Given the description of an element on the screen output the (x, y) to click on. 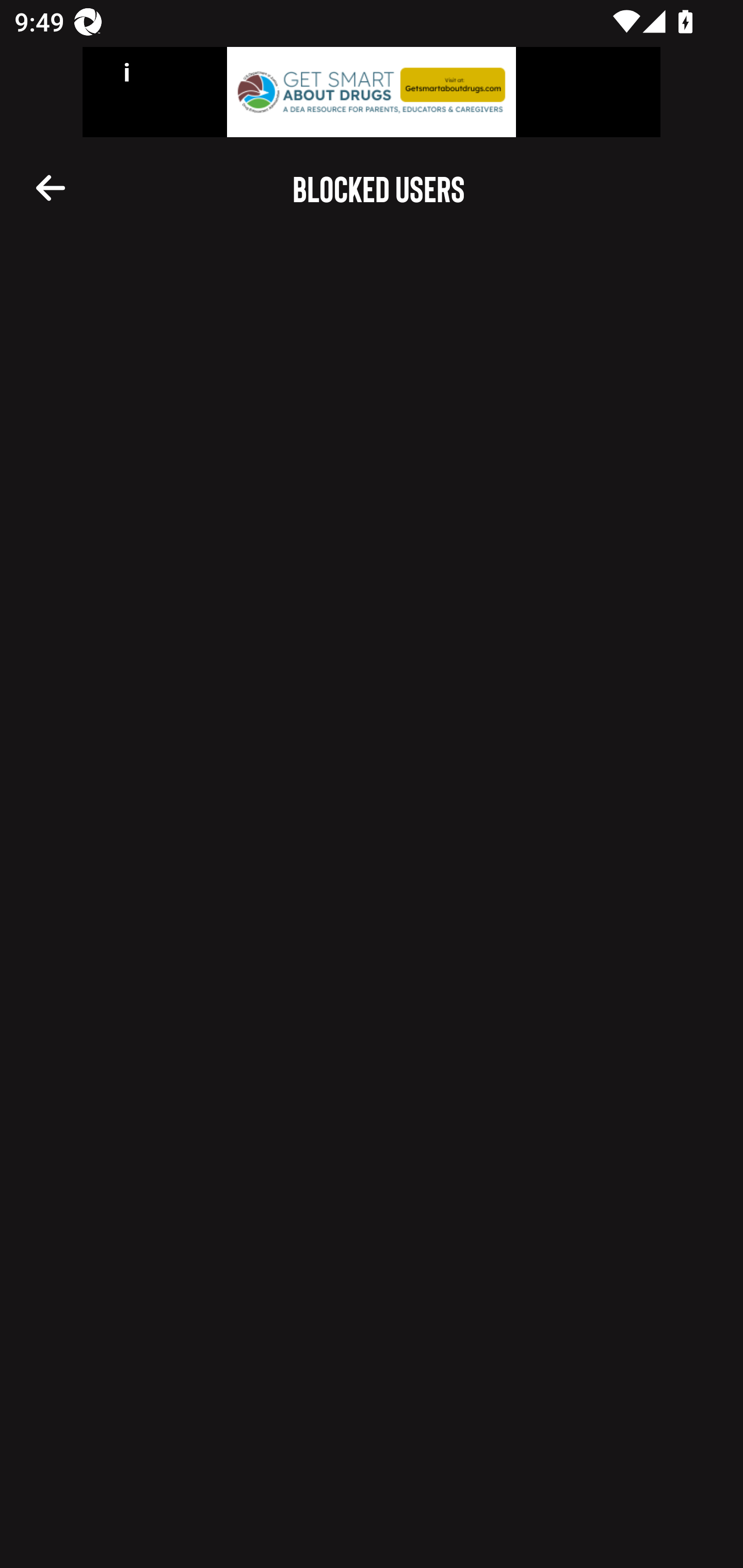
Description (50, 187)
